Given the description of an element on the screen output the (x, y) to click on. 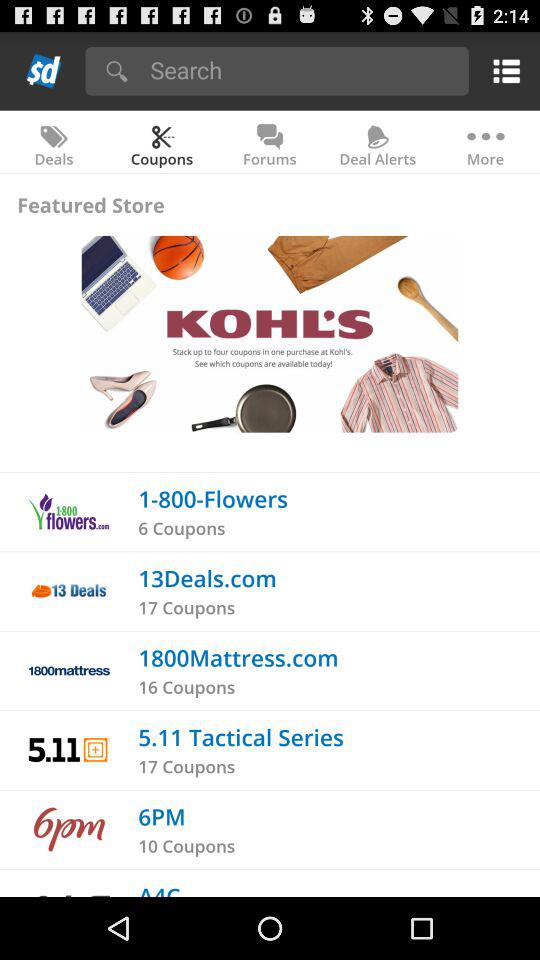
scroll to the featured store item (90, 204)
